Given the description of an element on the screen output the (x, y) to click on. 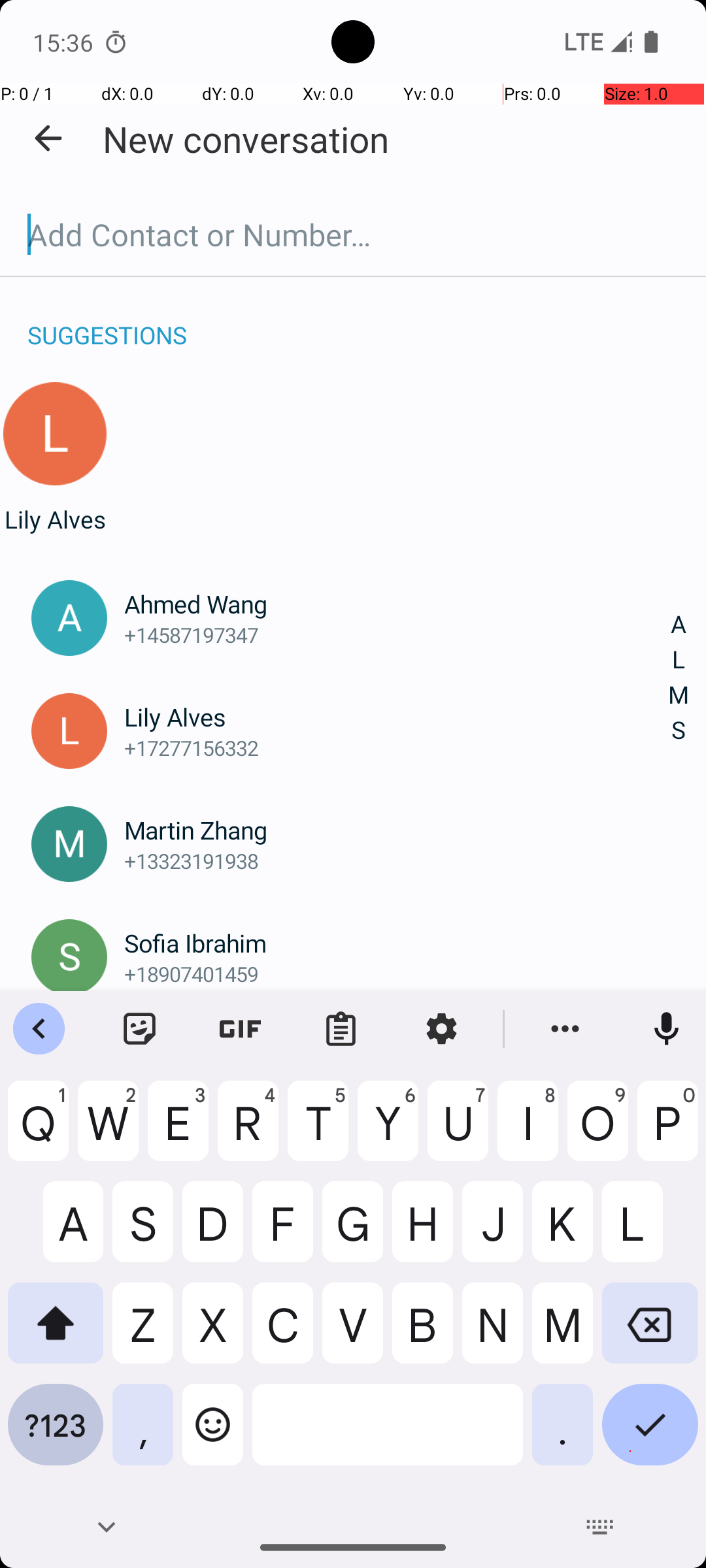
SUGGESTIONS Element type: android.widget.TextView (106, 321)
A
L
M
S Element type: android.widget.TextView (678, 677)
Lily Alves Element type: android.widget.TextView (54, 518)
+14587197347 Element type: android.widget.TextView (397, 634)
+17277156332 Element type: android.widget.TextView (397, 747)
Martin Zhang Element type: android.widget.TextView (397, 829)
+13323191938 Element type: android.widget.TextView (397, 860)
+18907401459 Element type: android.widget.TextView (397, 973)
